Given the description of an element on the screen output the (x, y) to click on. 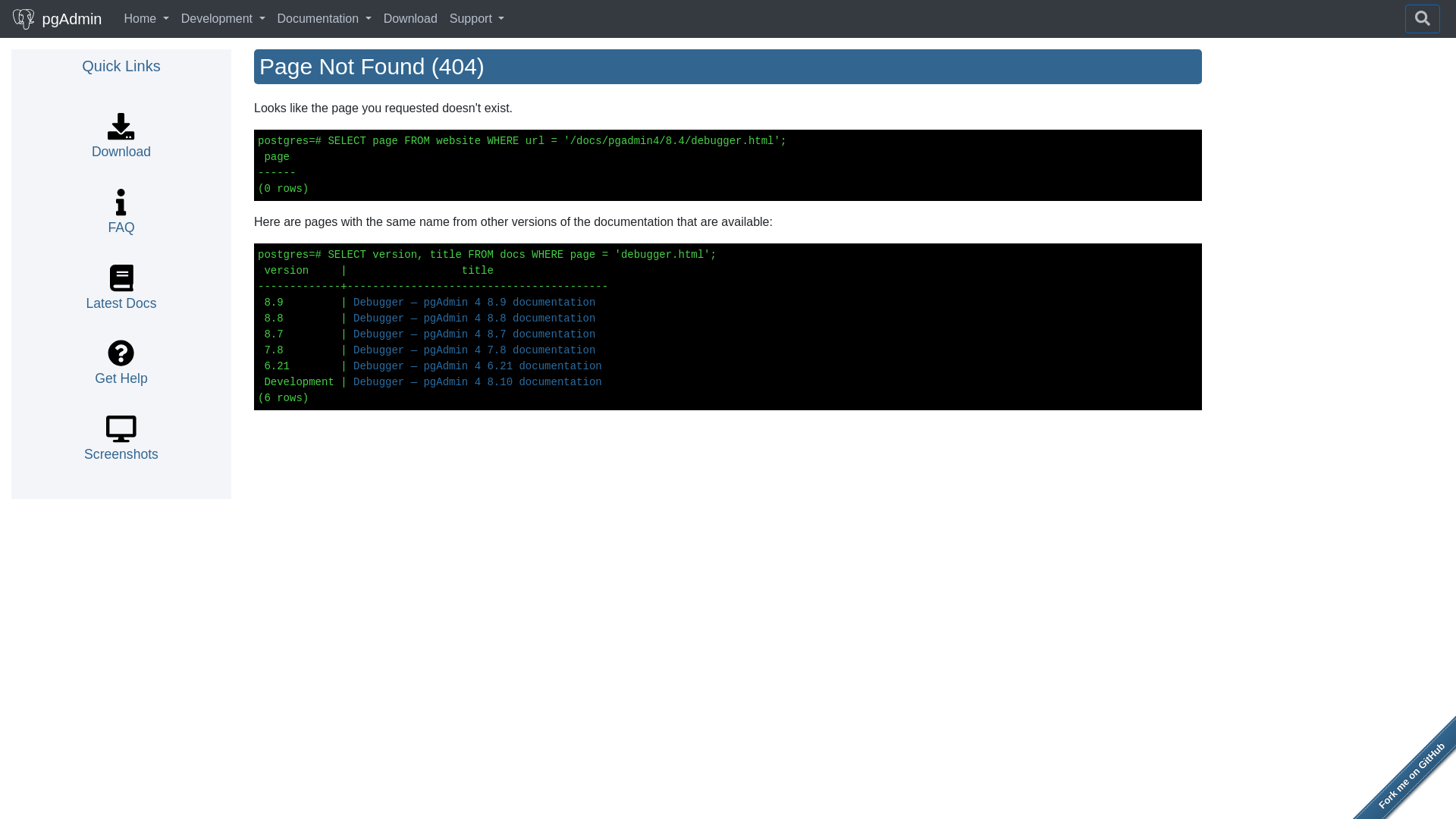
Download (121, 141)
FAQ (120, 217)
Support (477, 19)
Get Help (120, 368)
Latest Docs (121, 292)
Documentation (323, 19)
Screenshots (121, 443)
pgAdmin (56, 18)
Development (222, 19)
Download (410, 19)
Home (145, 19)
